Given the description of an element on the screen output the (x, y) to click on. 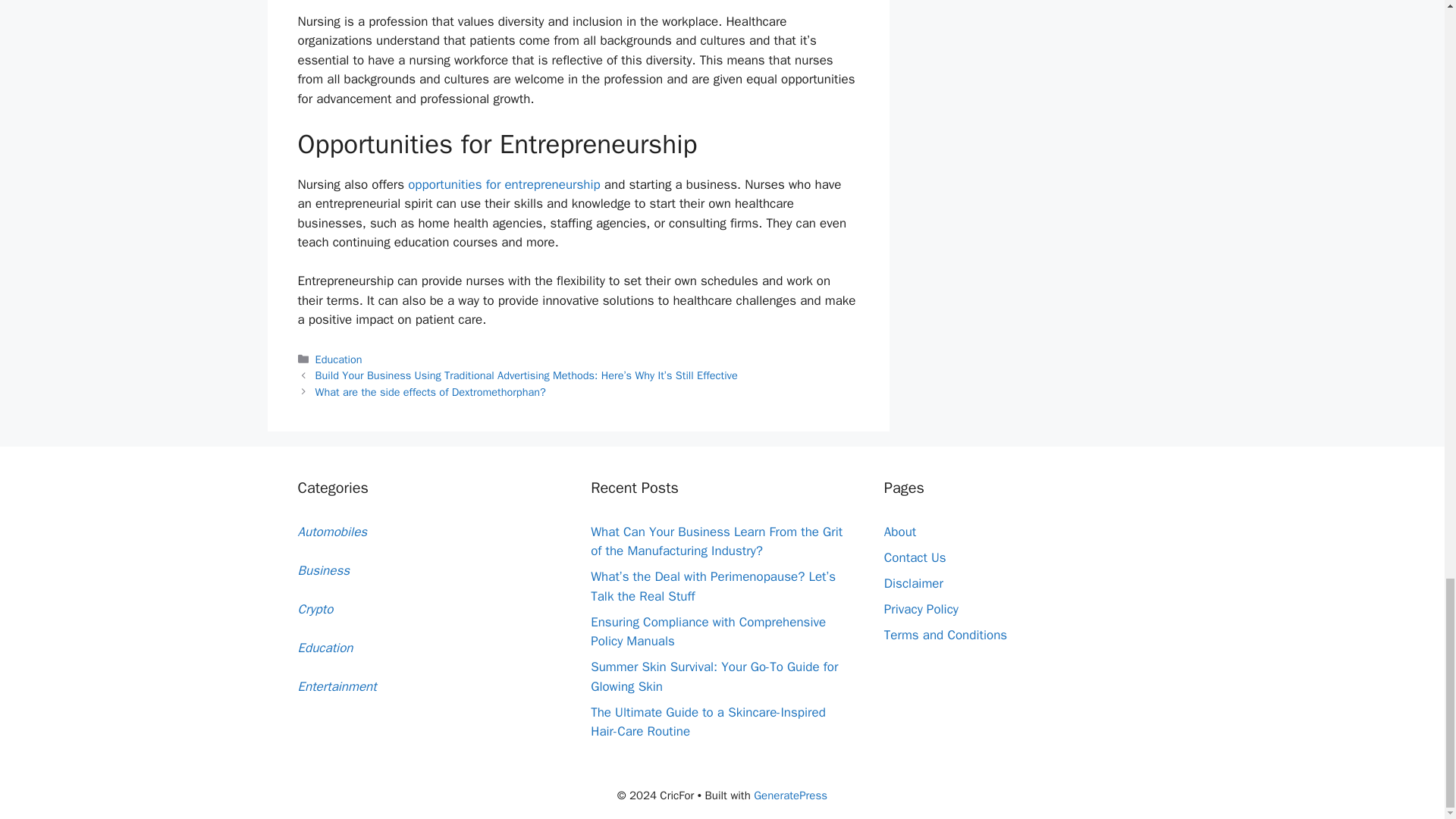
opportunities for entrepreneurship (503, 184)
Education (338, 359)
What are the side effects of Dextromethorphan? (430, 391)
